Given the description of an element on the screen output the (x, y) to click on. 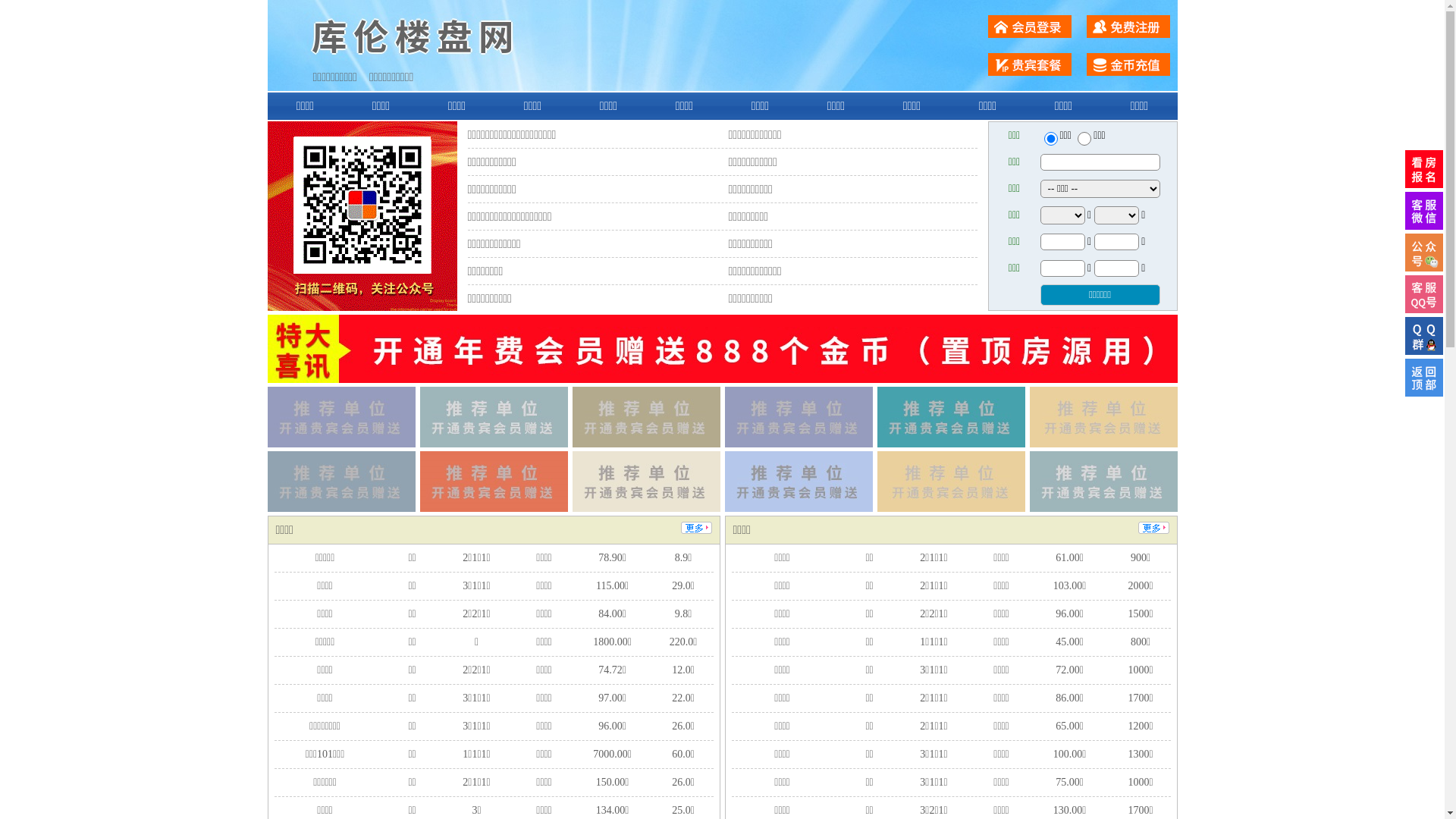
ershou Element type: text (1050, 138)
chuzu Element type: text (1084, 138)
